Given the description of an element on the screen output the (x, y) to click on. 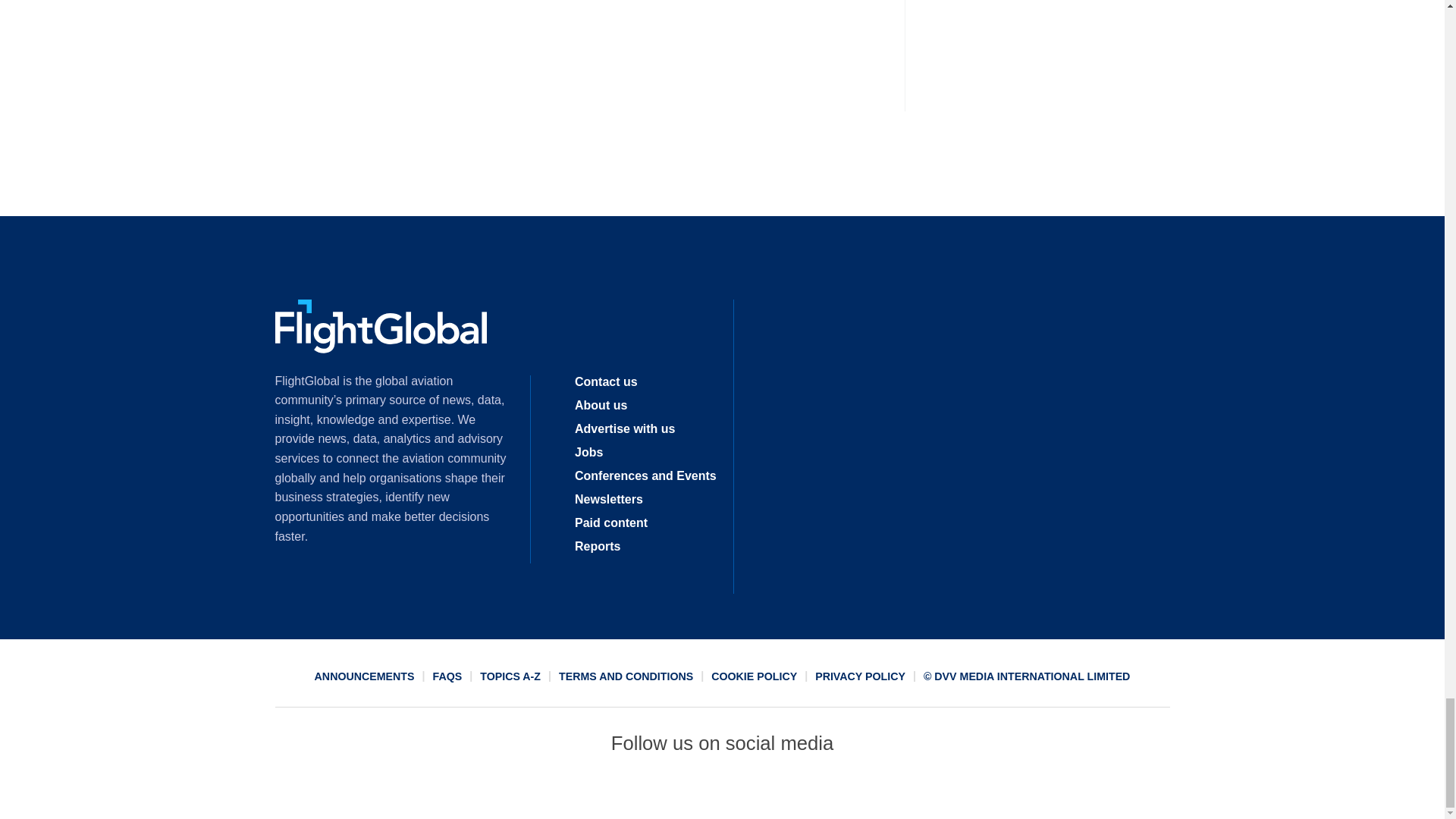
Connect with us on Twitter (667, 791)
Connect with us on Linked In (721, 791)
Connect with us on Facebook (611, 791)
Email us (776, 791)
Connect with us on Youtube (831, 791)
